Given the description of an element on the screen output the (x, y) to click on. 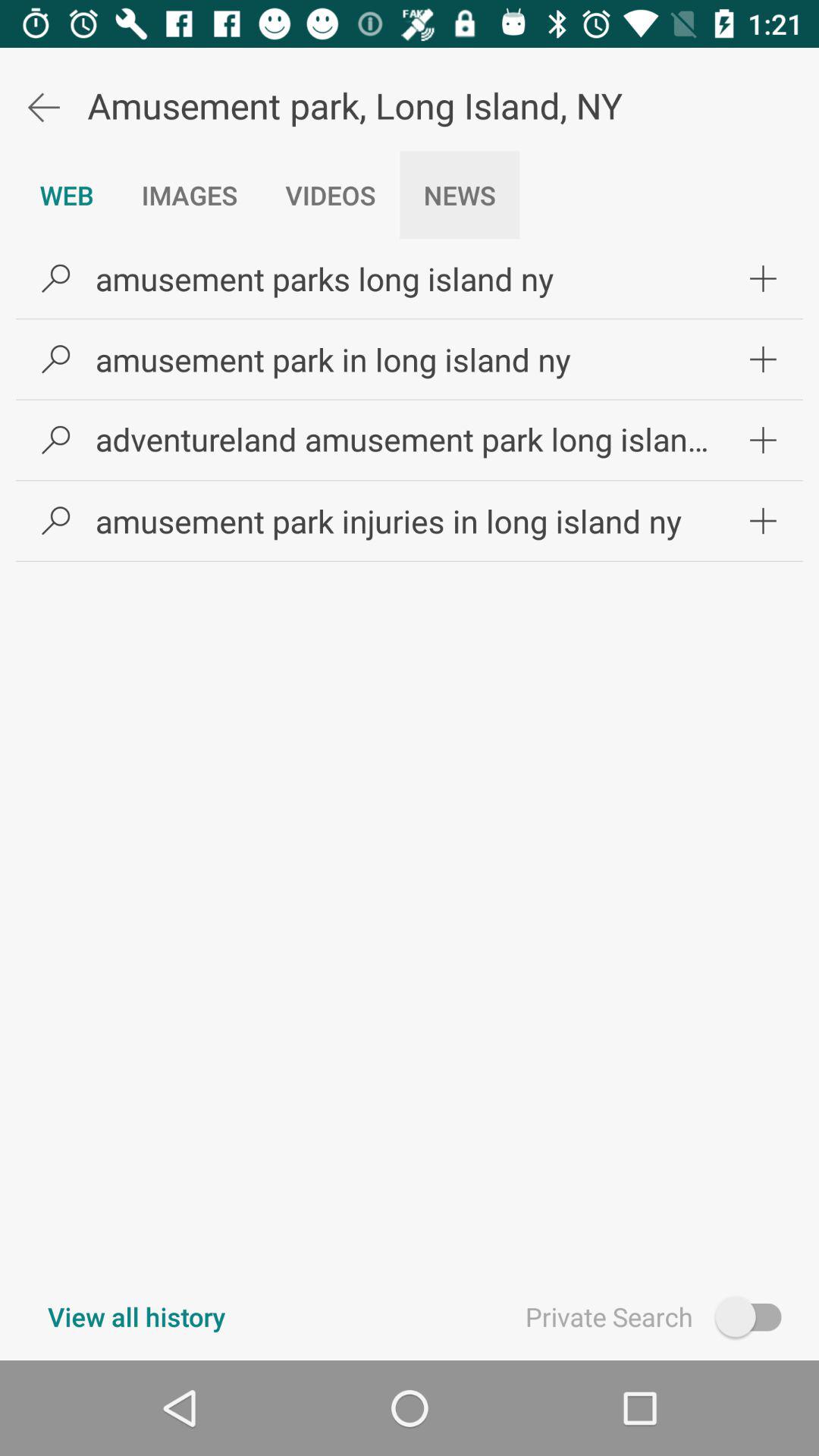
launch icon at the bottom left corner (136, 1316)
